Given the description of an element on the screen output the (x, y) to click on. 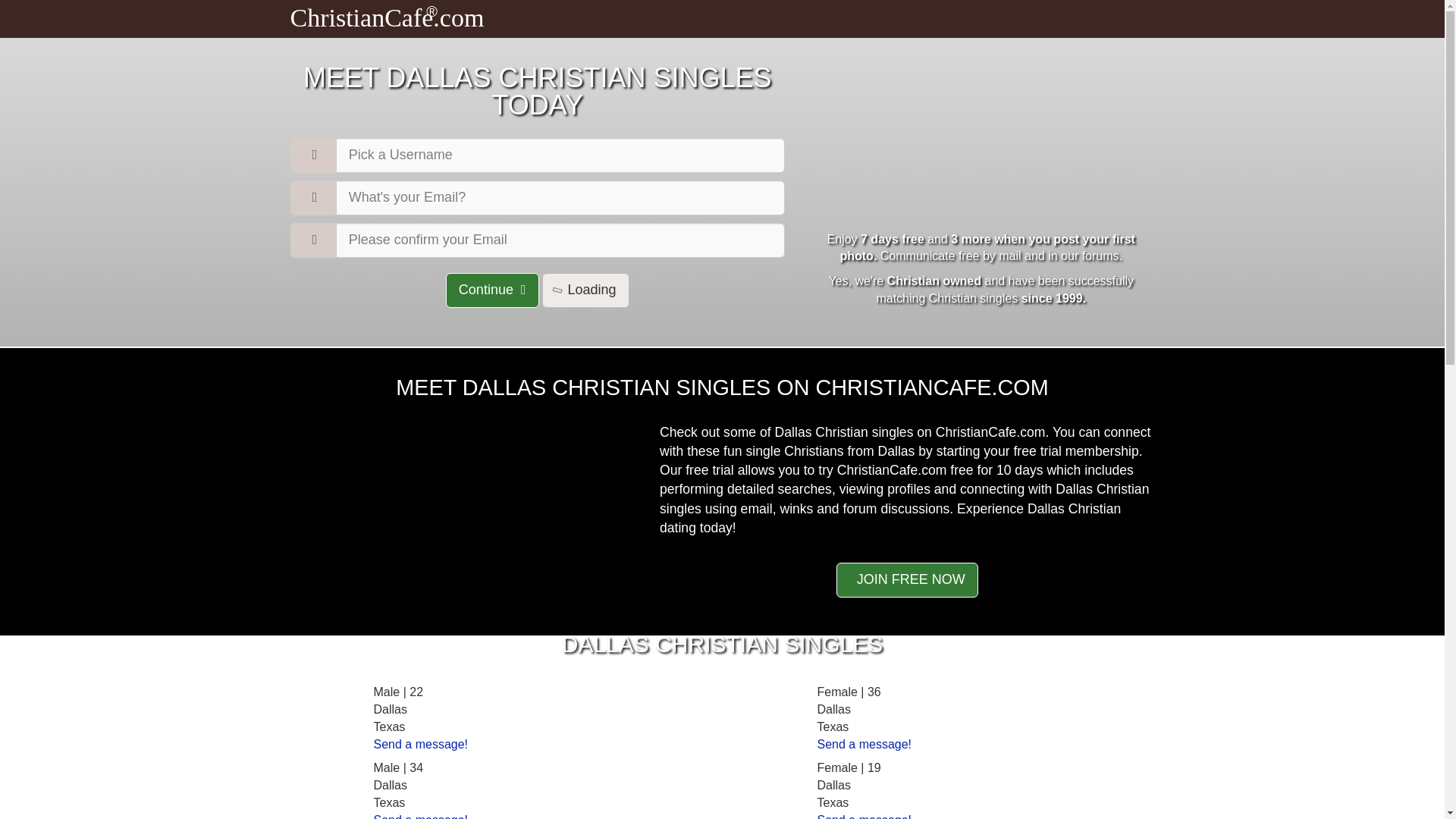
 Loading (584, 289)
Continue   (491, 289)
ChristianCafe.com (386, 21)
Send a message! (864, 744)
 JOIN FREE NOW (906, 579)
Send a message! (419, 816)
Send a message! (419, 744)
Send a message! (864, 816)
